Given the description of an element on the screen output the (x, y) to click on. 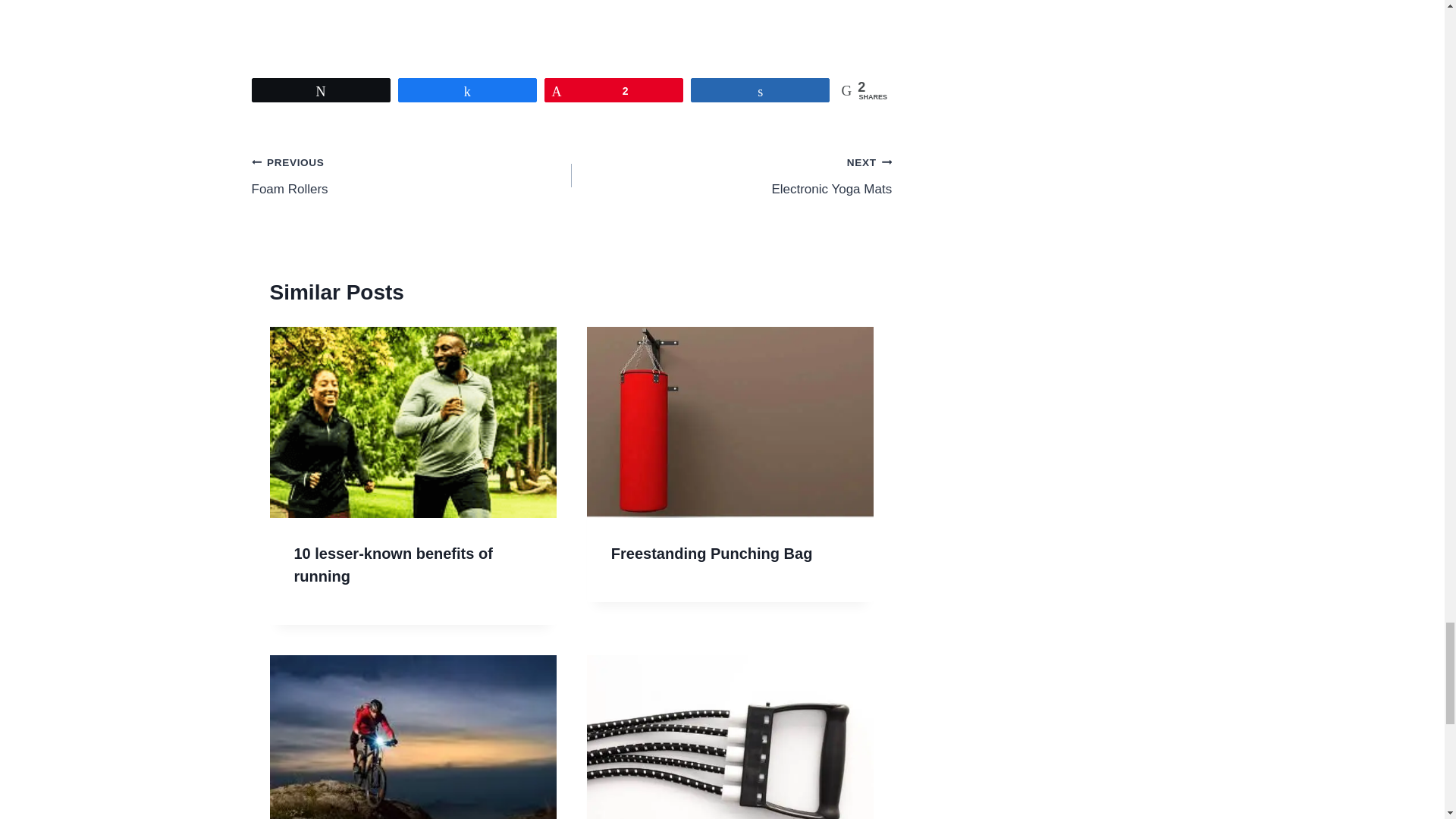
10 lesser-known benefits of running (731, 175)
Freestanding Punching Bag (393, 564)
2 (711, 553)
